Given the description of an element on the screen output the (x, y) to click on. 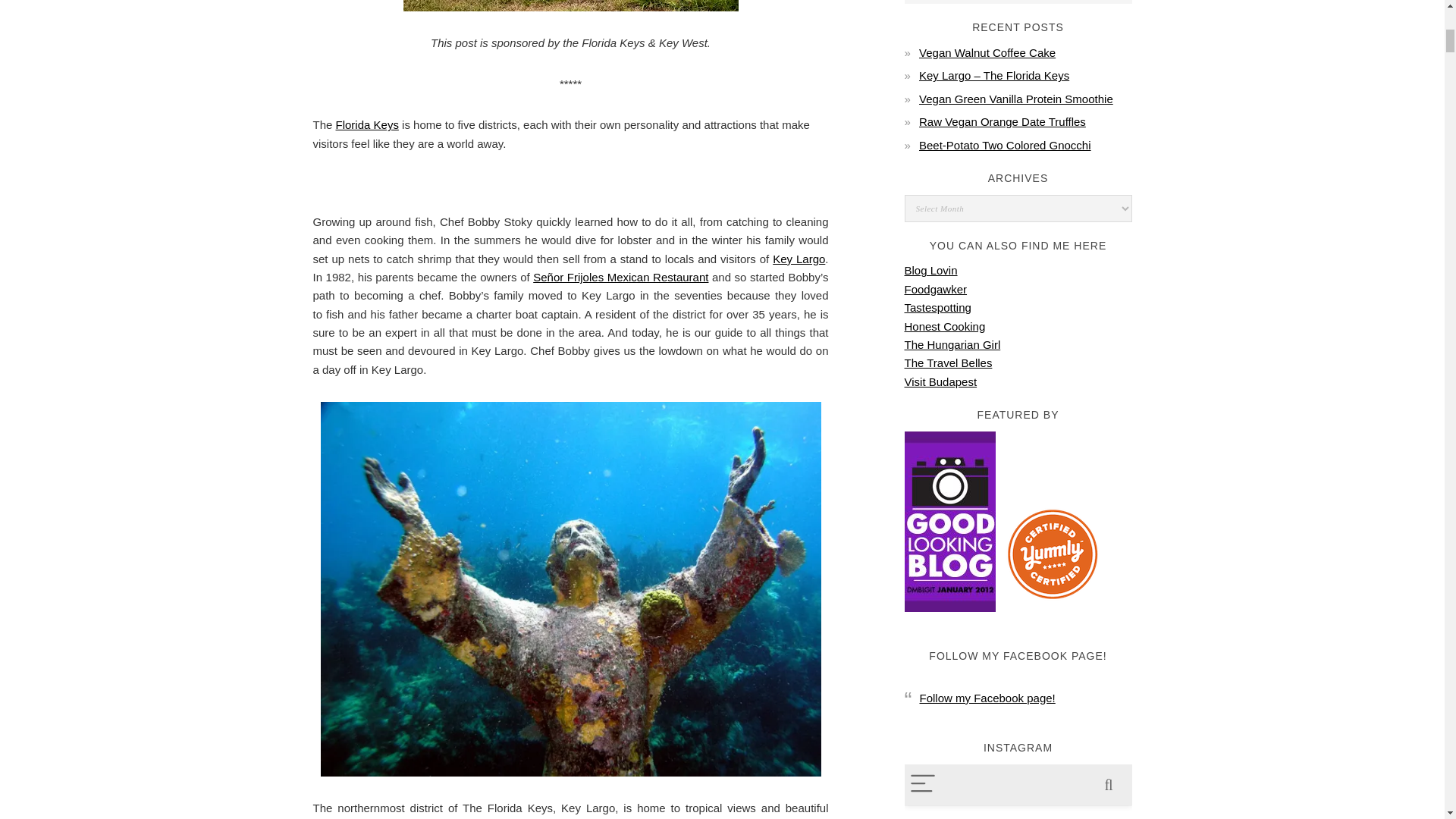
Key Largo (799, 258)
Florida Keys (367, 124)
